Given the description of an element on the screen output the (x, y) to click on. 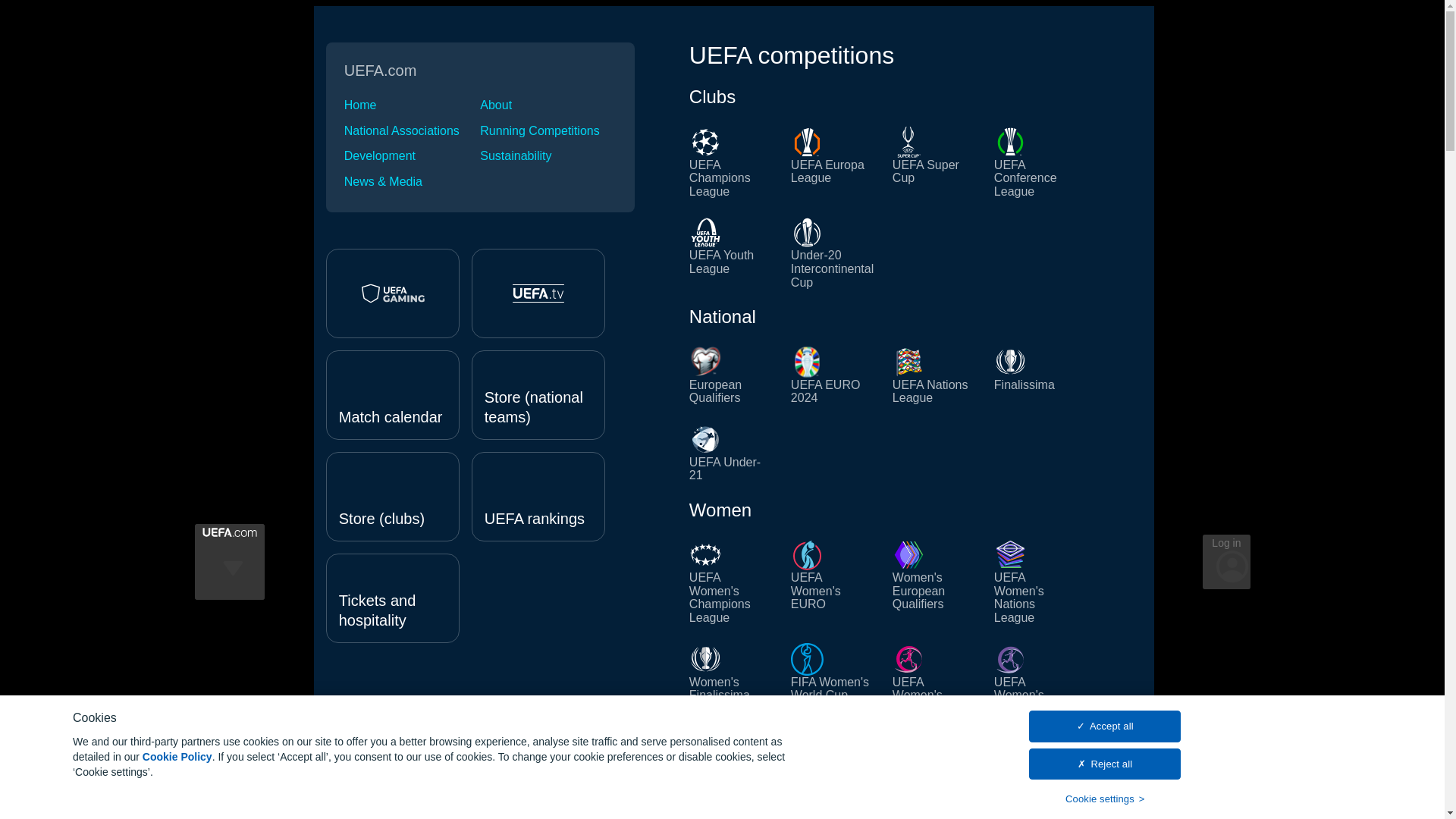
UEFA Women's Under-17 (1035, 678)
UEFA Nations League (933, 374)
UEFA EURO 2024 (832, 374)
European Qualifiers (730, 374)
Home (411, 105)
UEFA Women's Nations League (1035, 581)
UEFA Champions League (730, 162)
UEFA Super Cup (933, 162)
UEFA Regions' Cup (933, 795)
Women's European Qualifiers (933, 581)
navigation dropdown indicator icon (232, 591)
UEFA rankings (538, 496)
FIFA Women's World Cup (832, 678)
Sustainability (547, 155)
Women's Finalissima (730, 678)
